Given the description of an element on the screen output the (x, y) to click on. 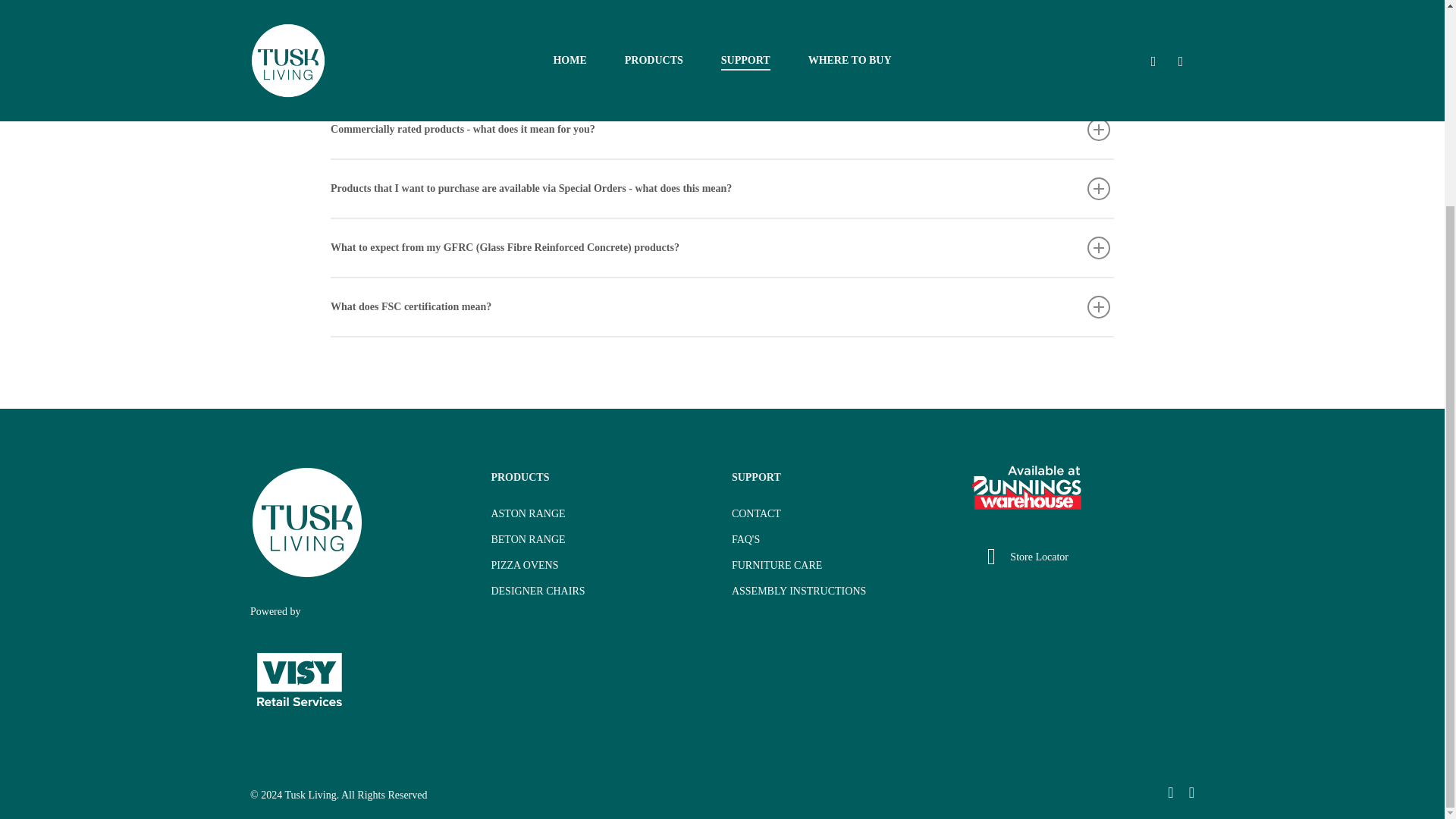
BETON RANGE (601, 539)
What does FSC certification mean? (721, 306)
ASTON RANGE (601, 514)
Commercially rated products - what does it mean for you? (721, 129)
